Given the description of an element on the screen output the (x, y) to click on. 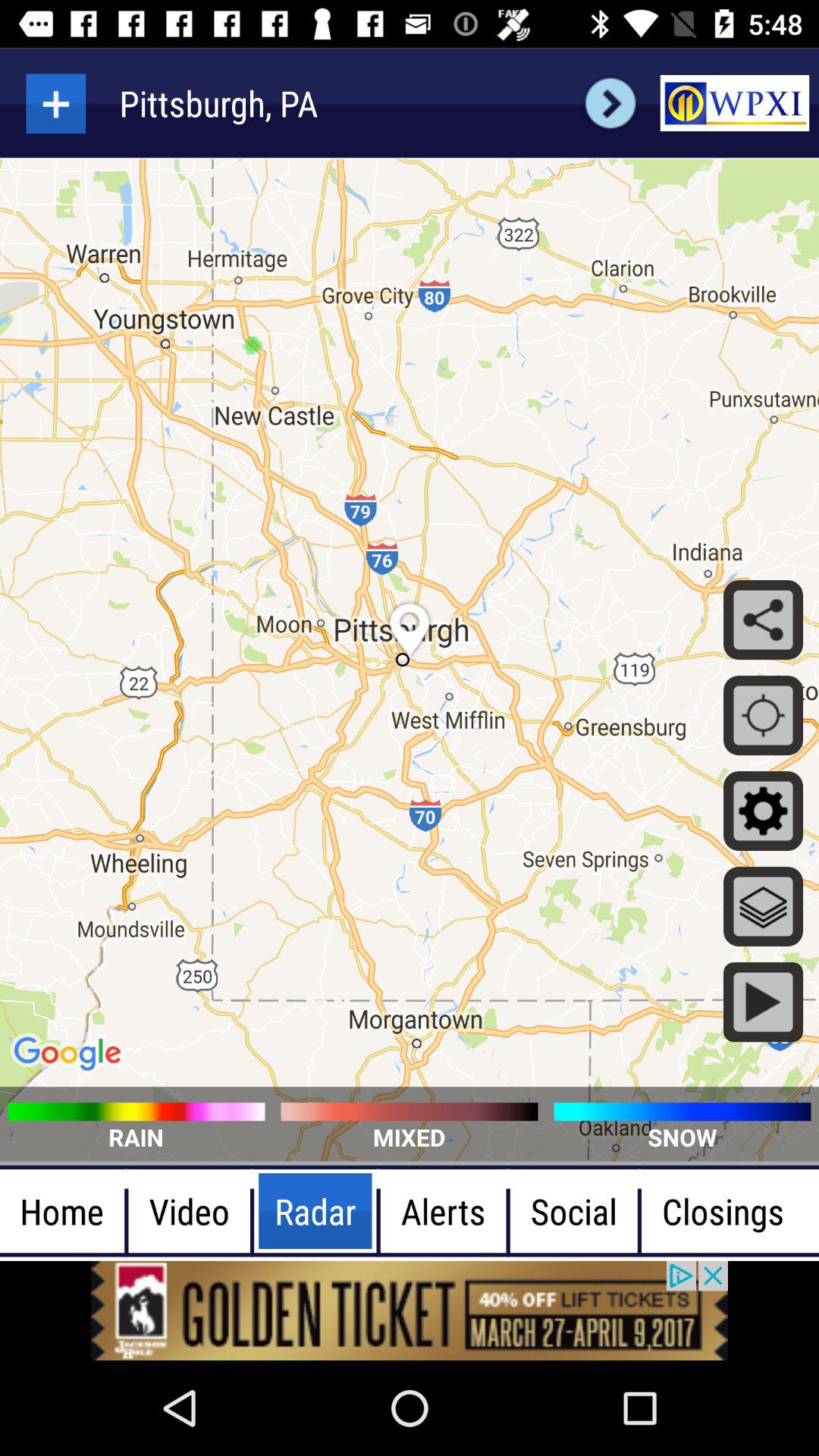
advertisement city (55, 103)
